Given the description of an element on the screen output the (x, y) to click on. 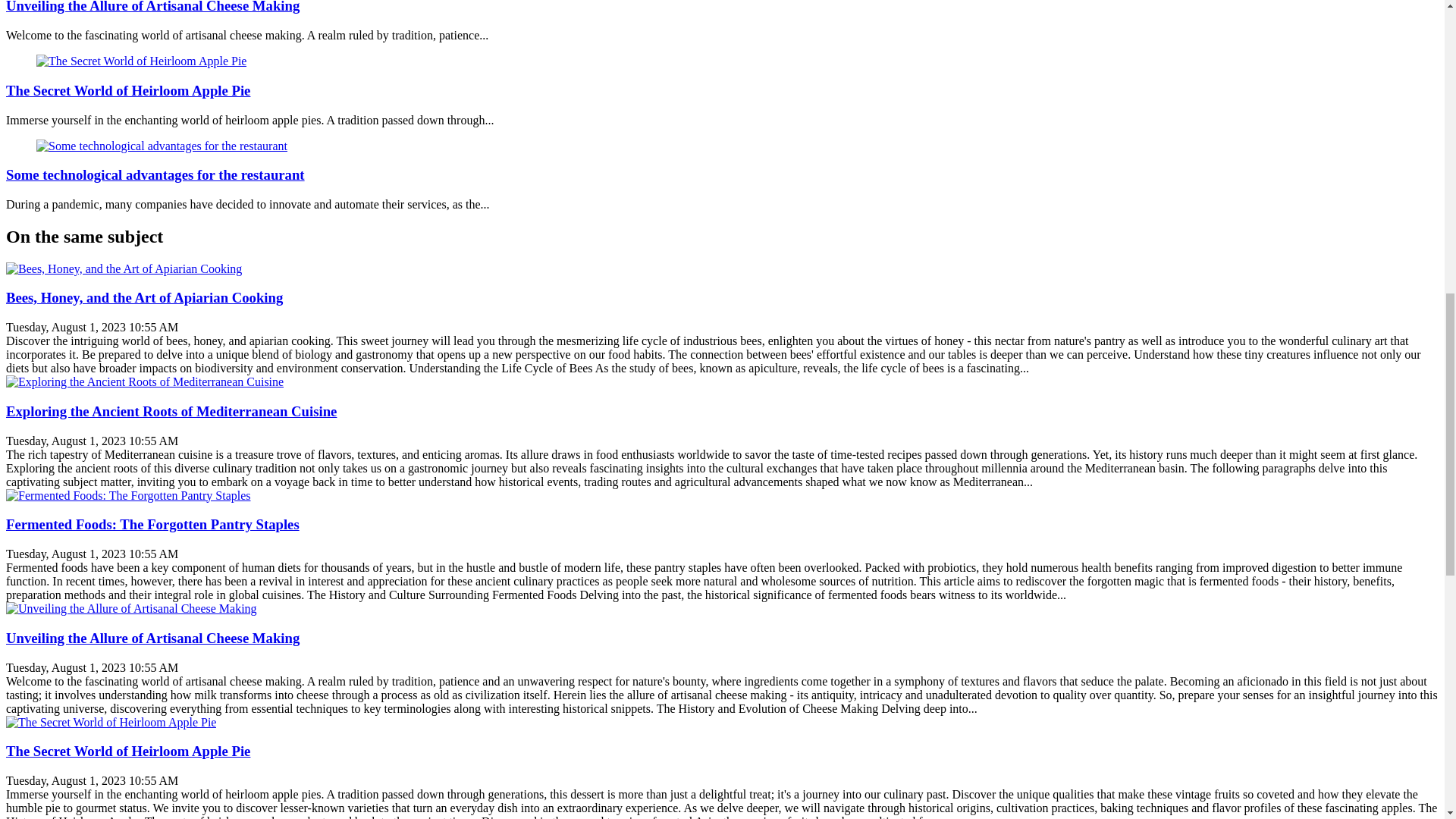
Fermented Foods: The Forgotten Pantry Staples (152, 524)
Unveiling the Allure of Artisanal Cheese Making (152, 637)
Bees, Honey, and the Art of Apiarian Cooking (143, 297)
Some technological advantages for the restaurant (154, 174)
Some technological advantages for the restaurant (154, 174)
The Secret World of Heirloom Apple Pie (141, 60)
Unveiling the Allure of Artisanal Cheese Making (152, 6)
Exploring the Ancient Roots of Mediterranean Cuisine (170, 411)
The Secret World of Heirloom Apple Pie (127, 750)
Exploring the Ancient Roots of Mediterranean Cuisine (144, 381)
